Given the description of an element on the screen output the (x, y) to click on. 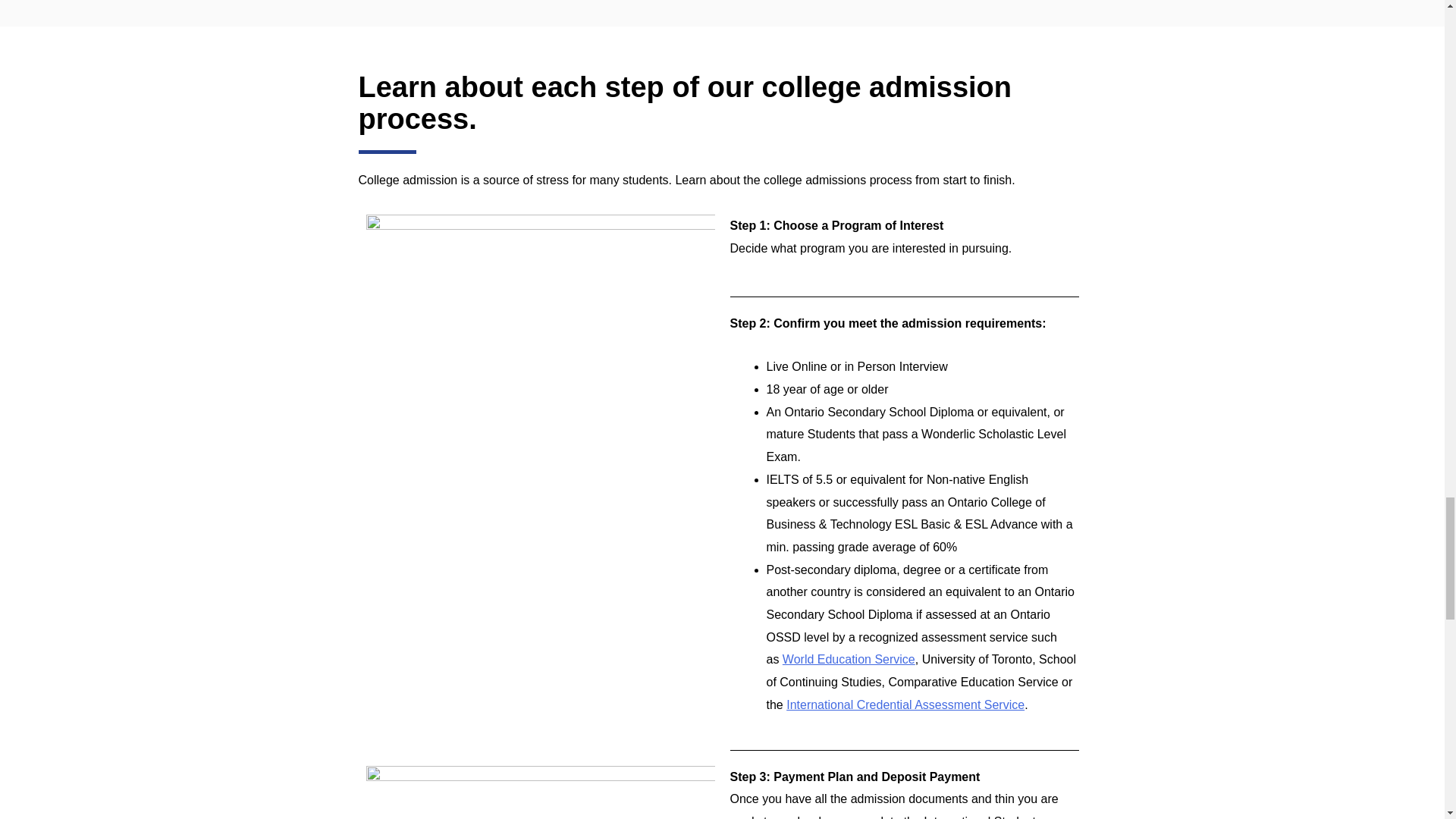
World Education Service (849, 658)
